Given the description of an element on the screen output the (x, y) to click on. 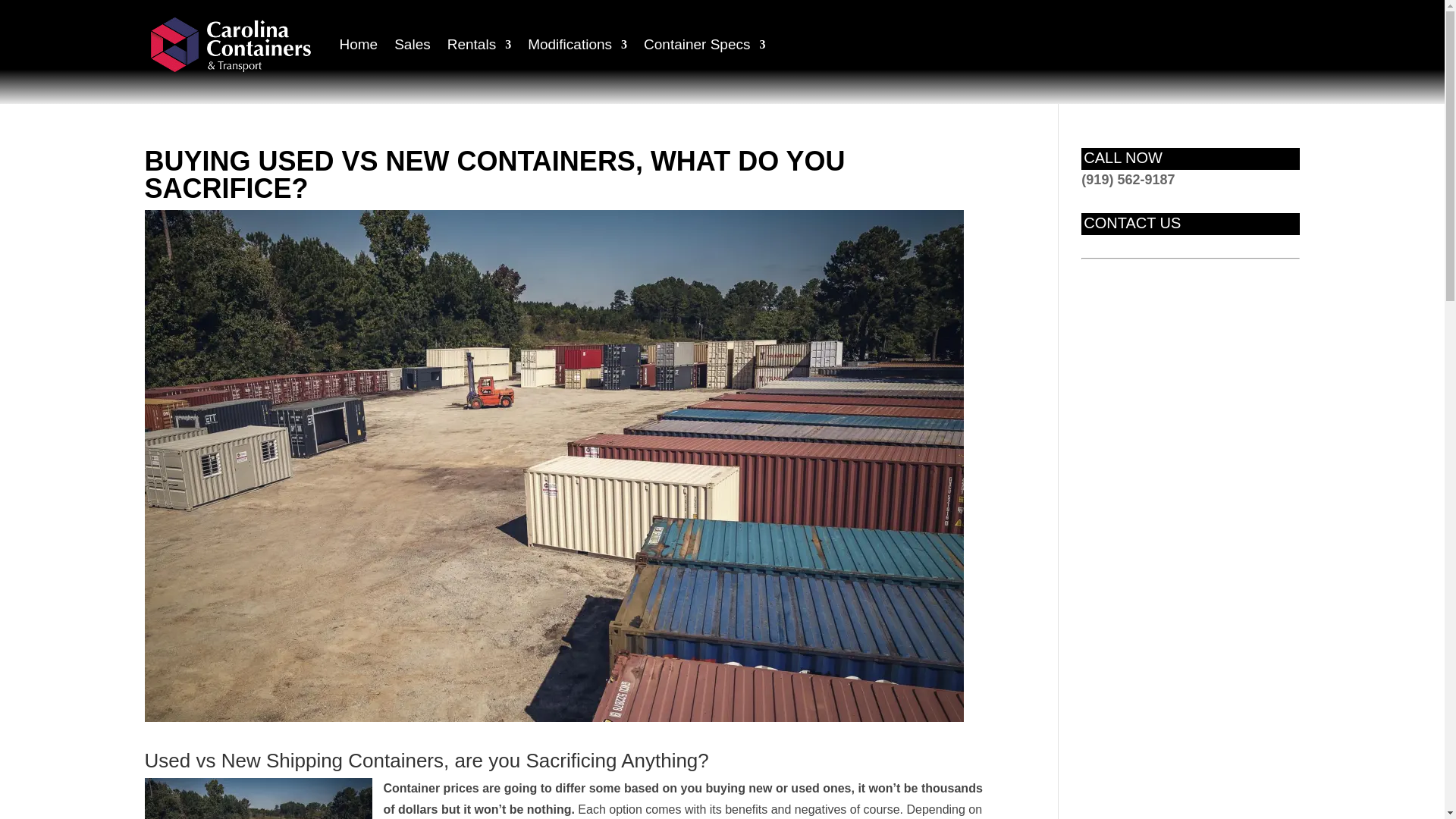
Container Specs (704, 44)
Modifications (577, 44)
Rentals (478, 44)
